Given the description of an element on the screen output the (x, y) to click on. 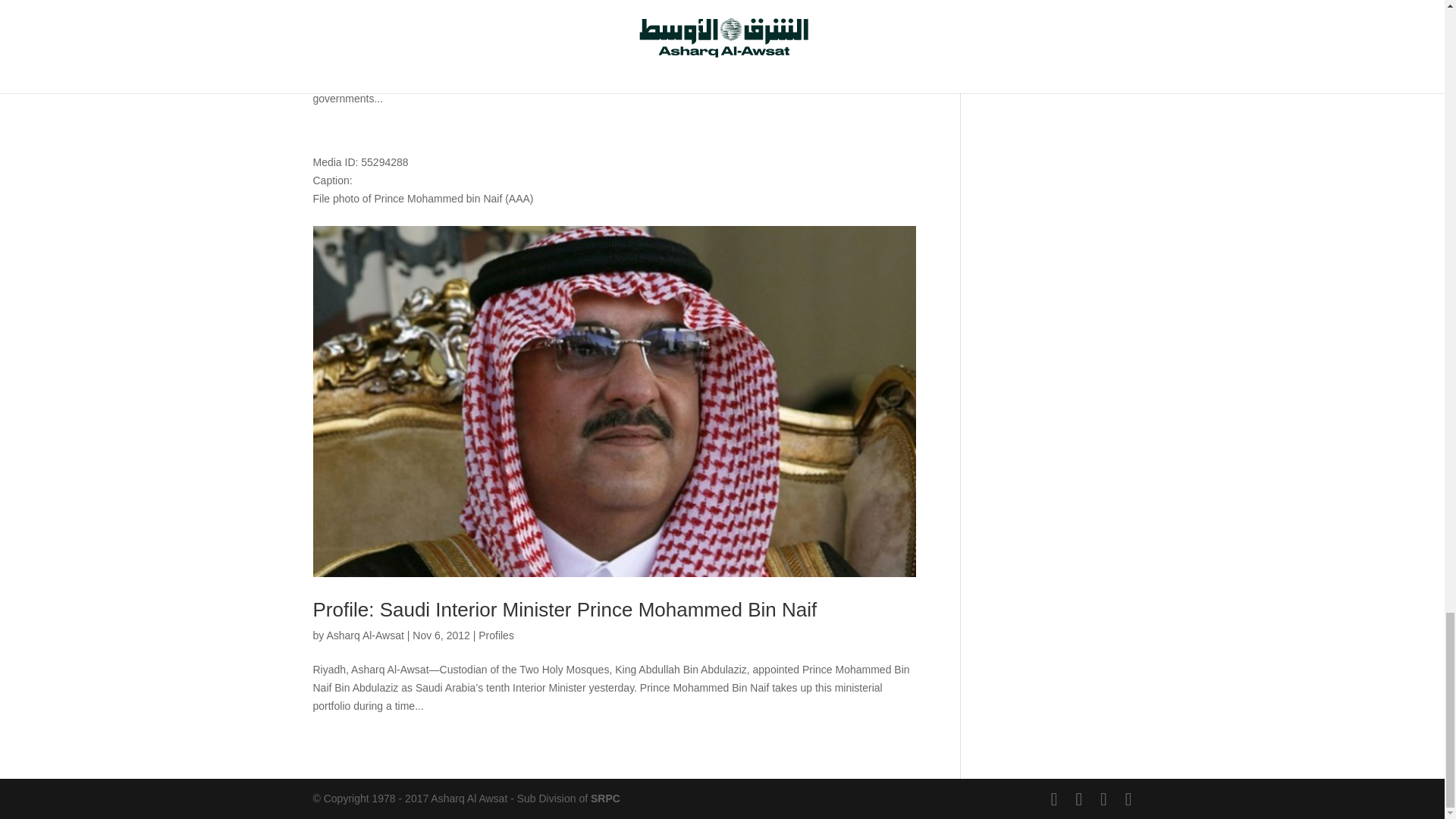
Middle East (510, 28)
Posts by Asharq Al-Awsat (364, 28)
Profiles (496, 635)
Asharq Al-Awsat (364, 28)
Asharq Al-Awsat (364, 635)
Profile: Saudi Interior Minister Prince Mohammed Bin Naif (564, 609)
SRPC (605, 798)
Obama meets new Saudi interior minister at White House (563, 7)
Posts by Asharq Al-Awsat (364, 635)
